Given the description of an element on the screen output the (x, y) to click on. 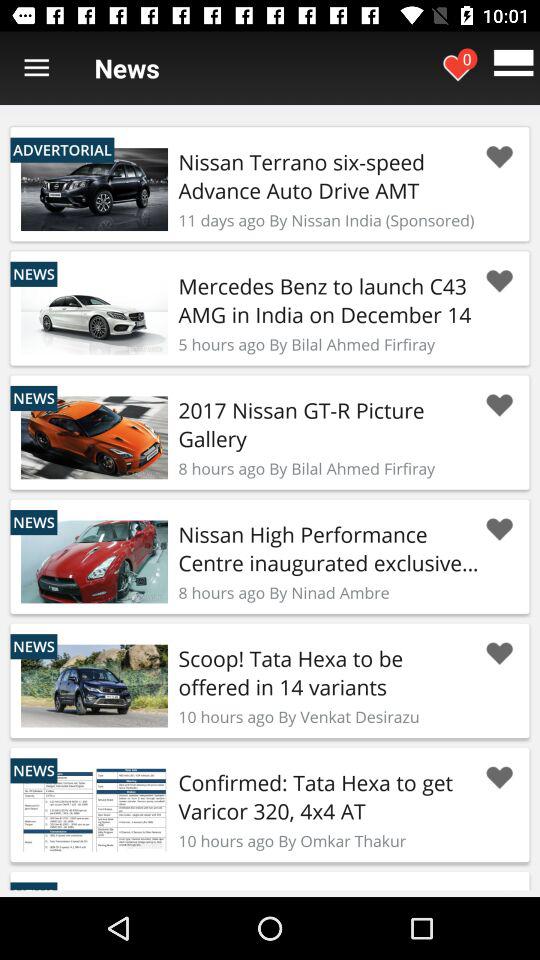
like this post (499, 653)
